Given the description of an element on the screen output the (x, y) to click on. 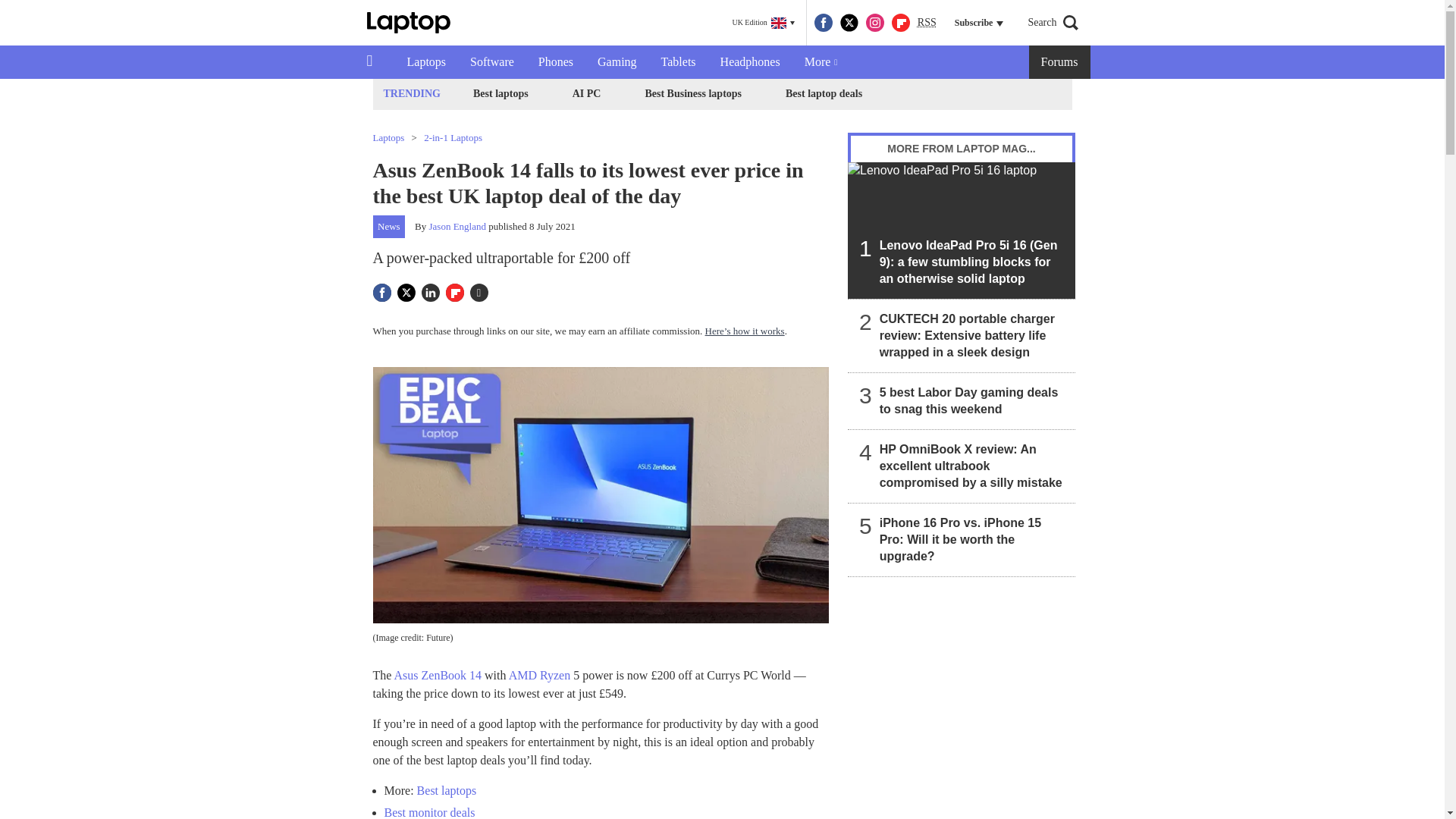
Software (491, 61)
Tablets (678, 61)
Best Business laptops (692, 93)
UK Edition (762, 22)
Headphones (749, 61)
Best laptop deals (823, 93)
RSS (926, 22)
Really Simple Syndication (926, 21)
Gaming (617, 61)
Phones (555, 61)
